Given the description of an element on the screen output the (x, y) to click on. 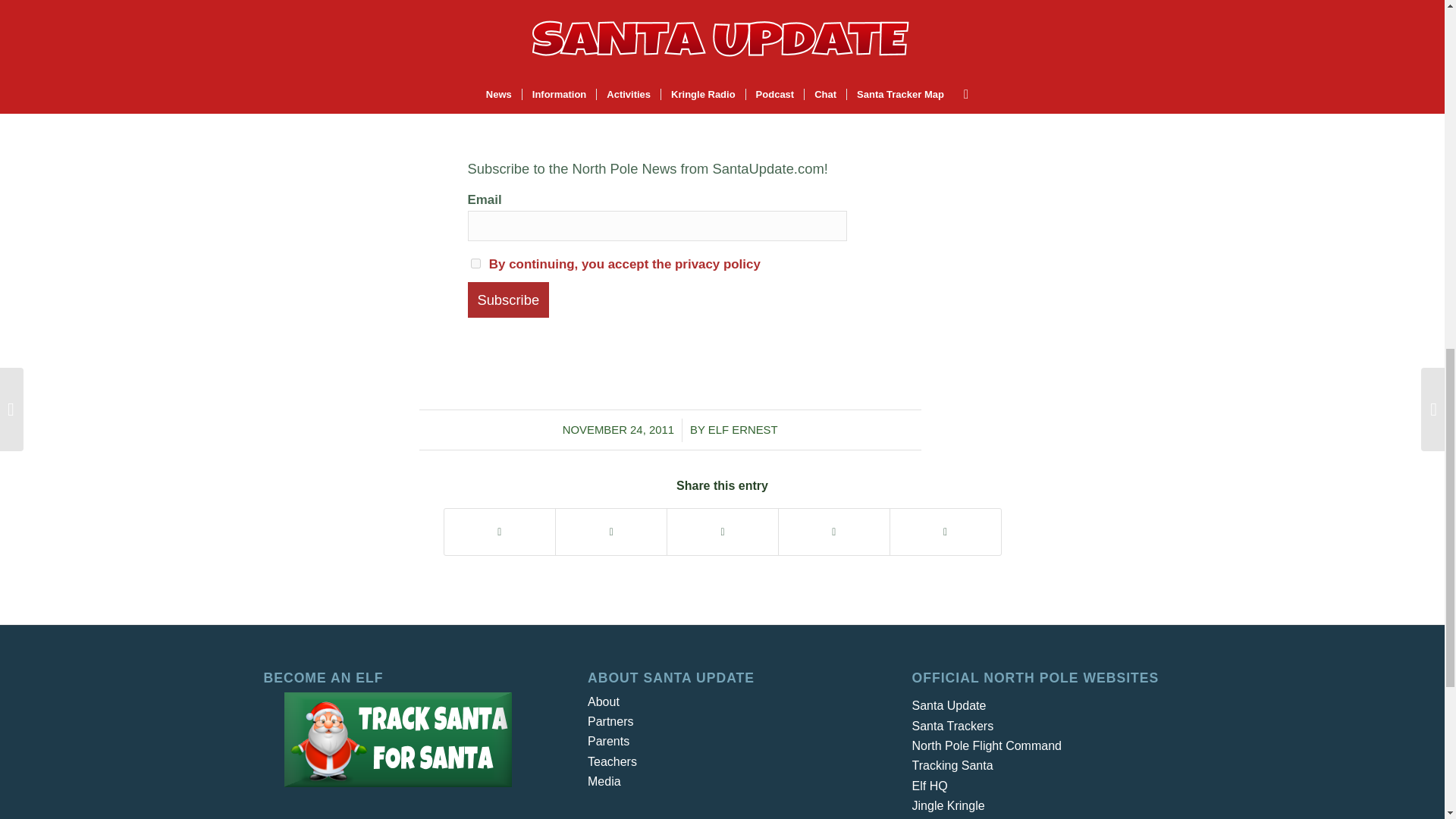
Posts by Elf Ernest (742, 429)
Subscribe (507, 299)
Become an Elf (397, 739)
on (475, 263)
